Given the description of an element on the screen output the (x, y) to click on. 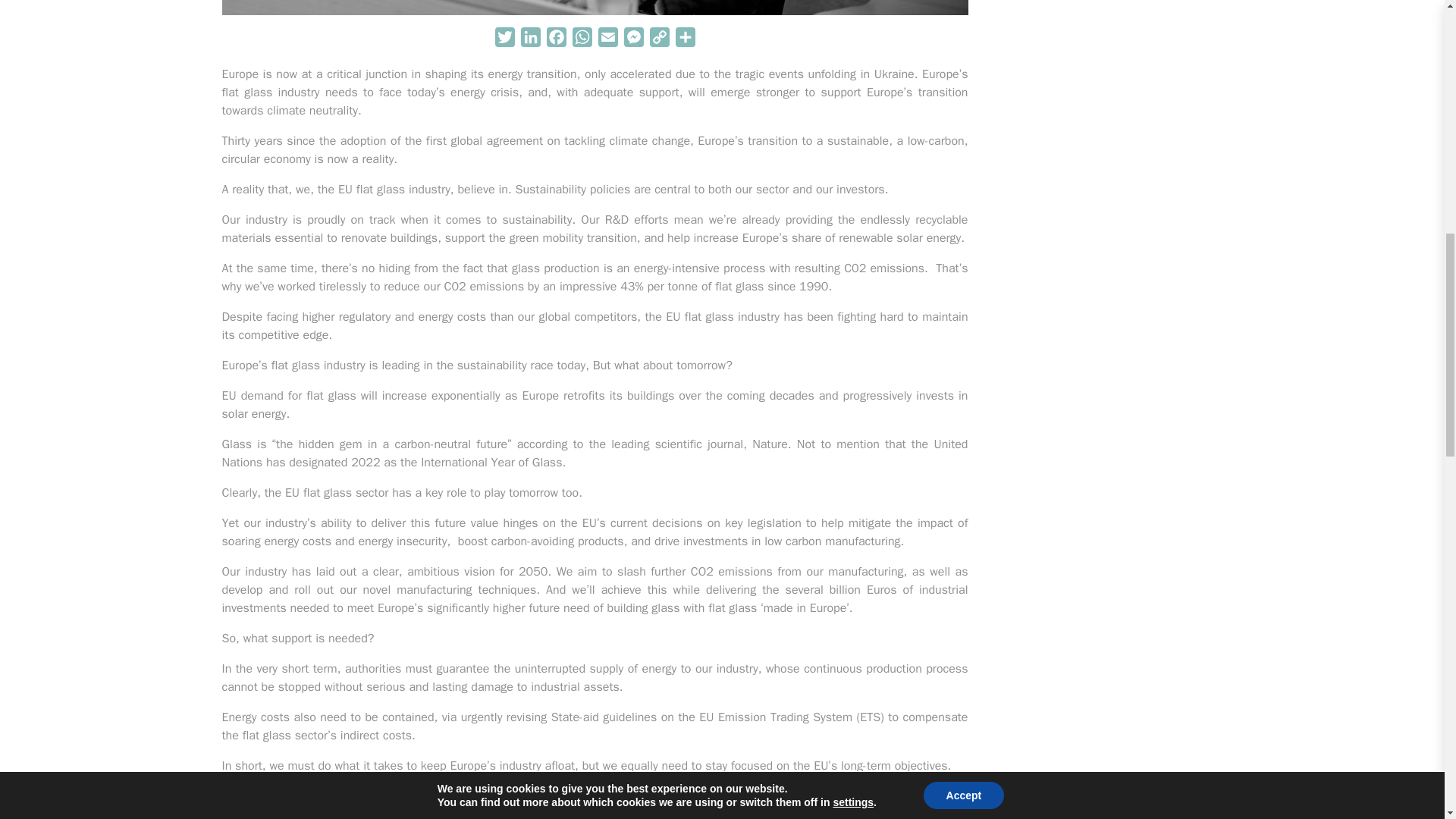
Email (607, 40)
Twitter (504, 40)
WhatsApp (581, 40)
LinkedIn (529, 40)
Facebook (556, 40)
Messenger (633, 40)
Copy Link (658, 40)
